Given the description of an element on the screen output the (x, y) to click on. 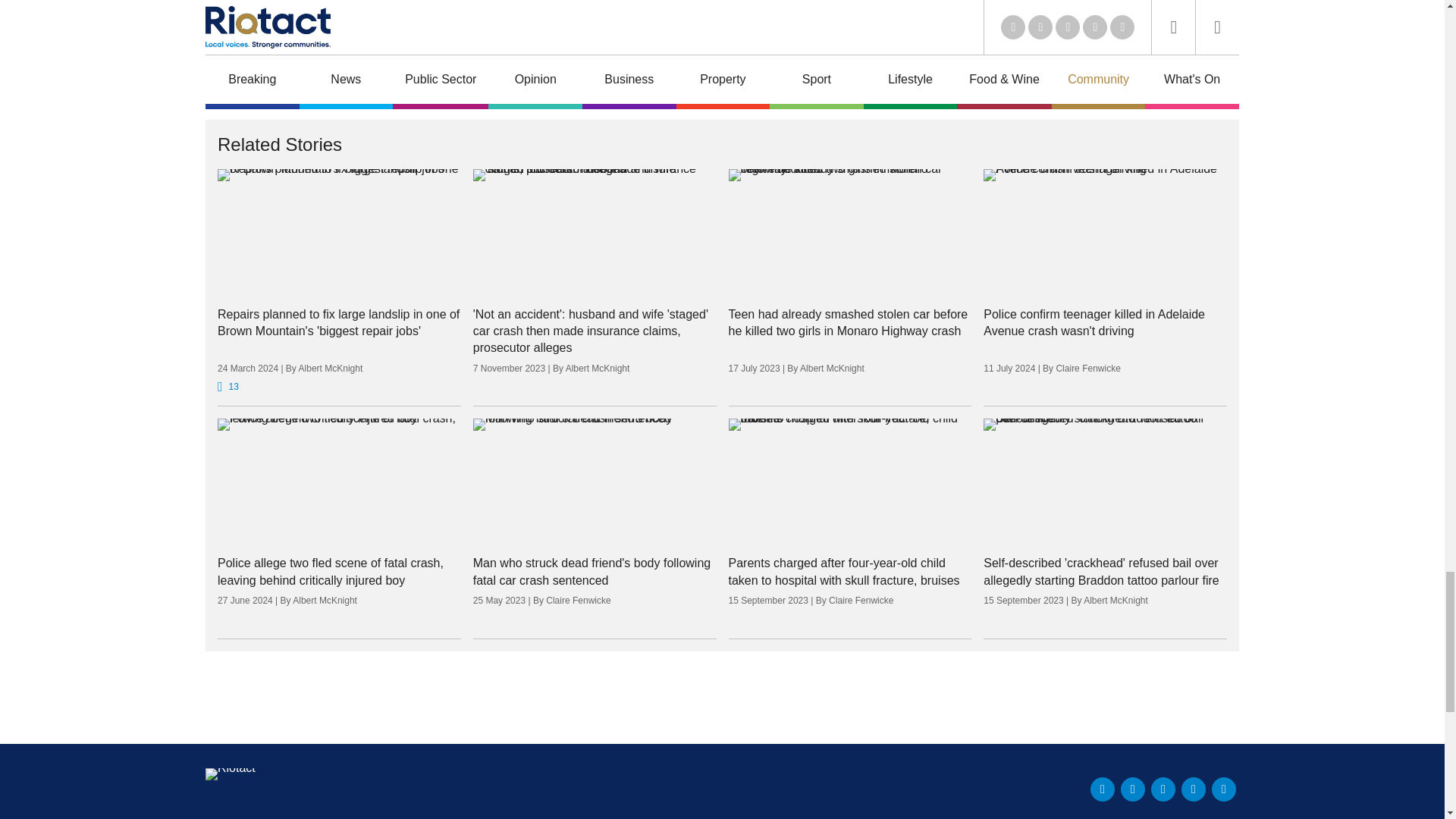
LinkedIn (1102, 789)
Instagram (1223, 789)
Facebook (1192, 789)
Youtube (1162, 789)
Twitter (1132, 789)
